Given the description of an element on the screen output the (x, y) to click on. 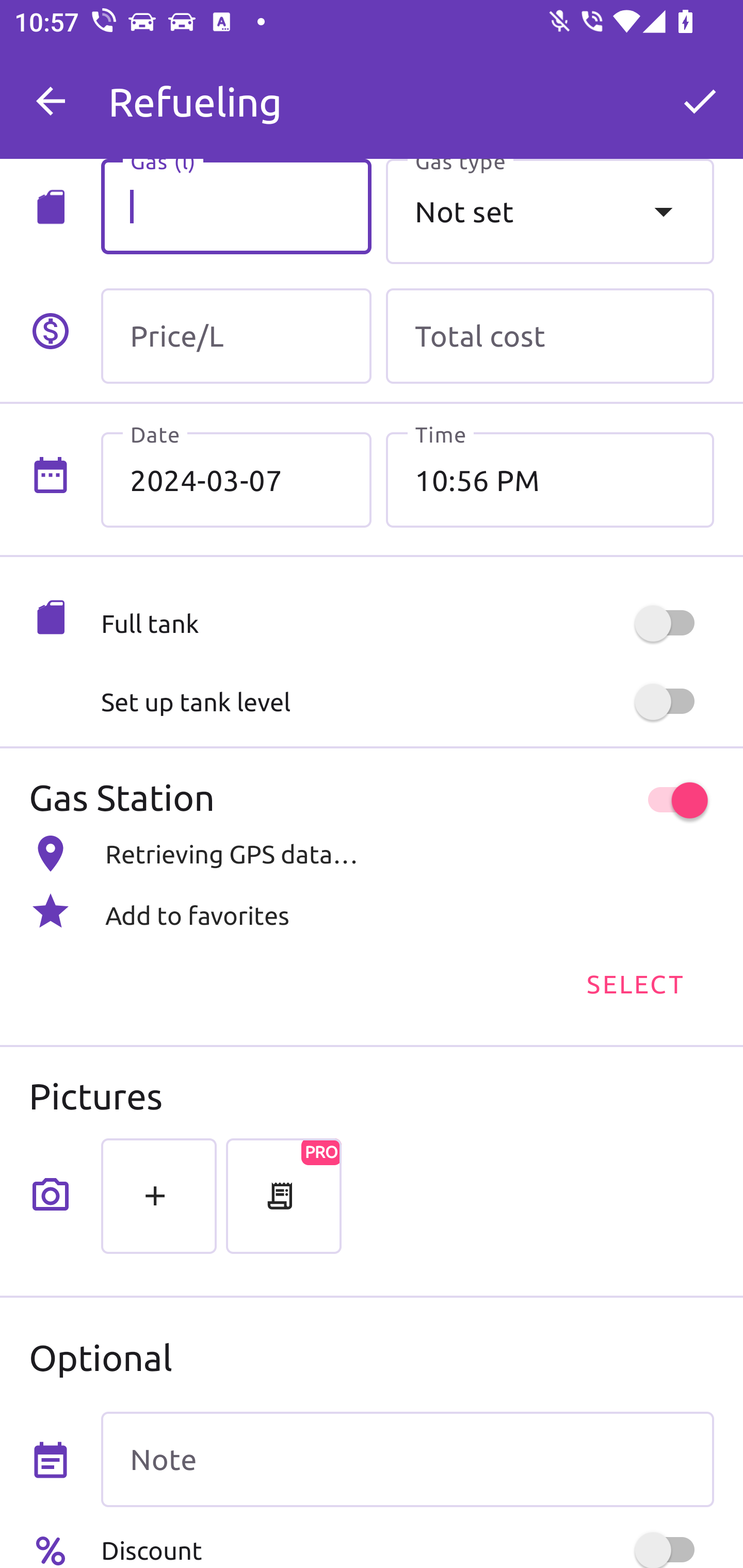
M My Car 0 km (407, 92)
Navigate up (50, 101)
OK (699, 101)
Gas (l) (236, 206)
Not set (549, 210)
Price/L (236, 336)
Total cost  (549, 336)
2024-03-07 (236, 480)
10:56 PM (549, 480)
Full tank (407, 622)
Set up tank level (407, 701)
Add to favorites (371, 911)
SELECT (634, 983)
Note (407, 1458)
Discount (407, 1546)
